Given the description of an element on the screen output the (x, y) to click on. 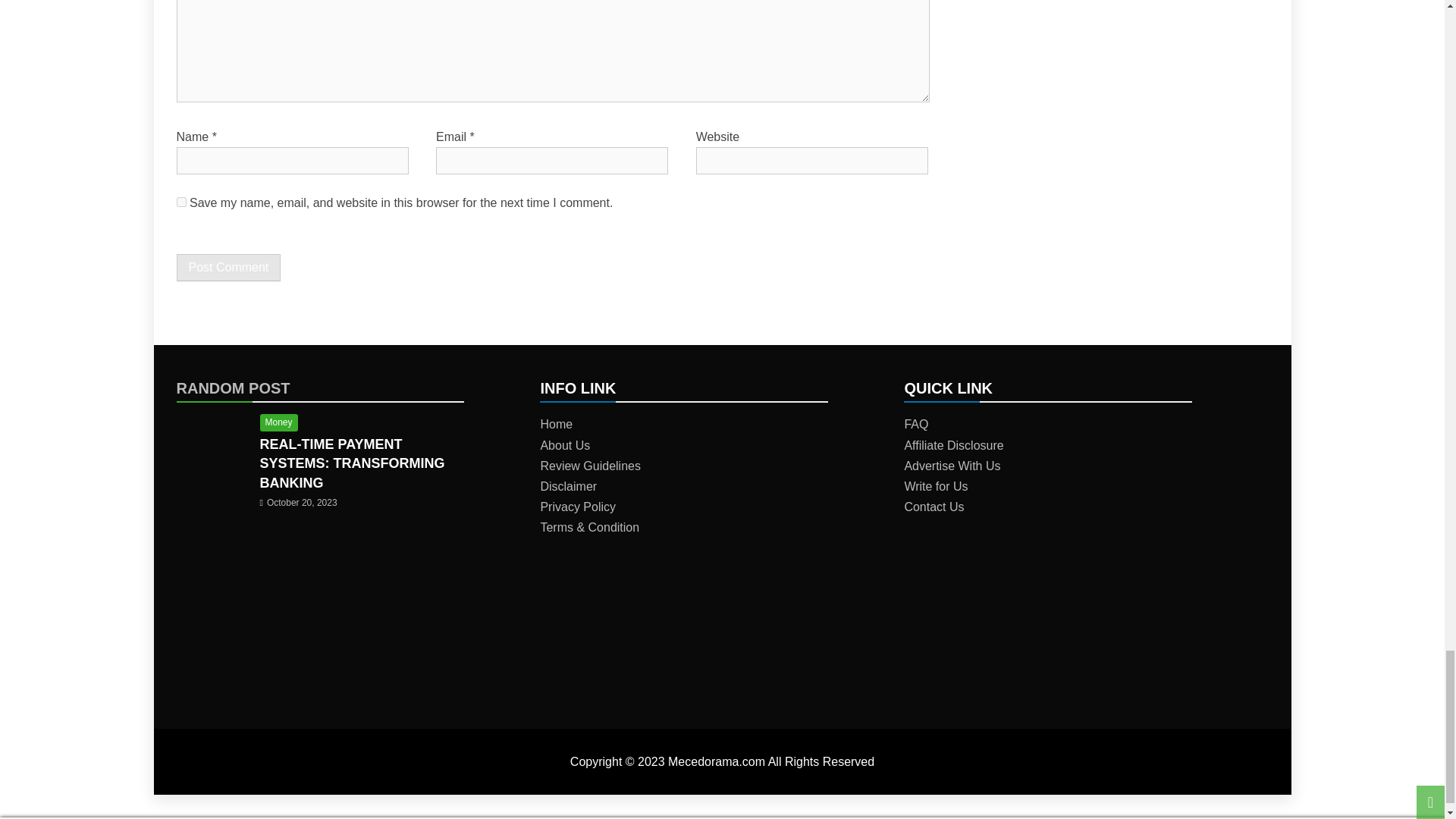
DMCA.com Protection Status (1017, 656)
Post Comment (228, 267)
yes (181, 202)
